Given the description of an element on the screen output the (x, y) to click on. 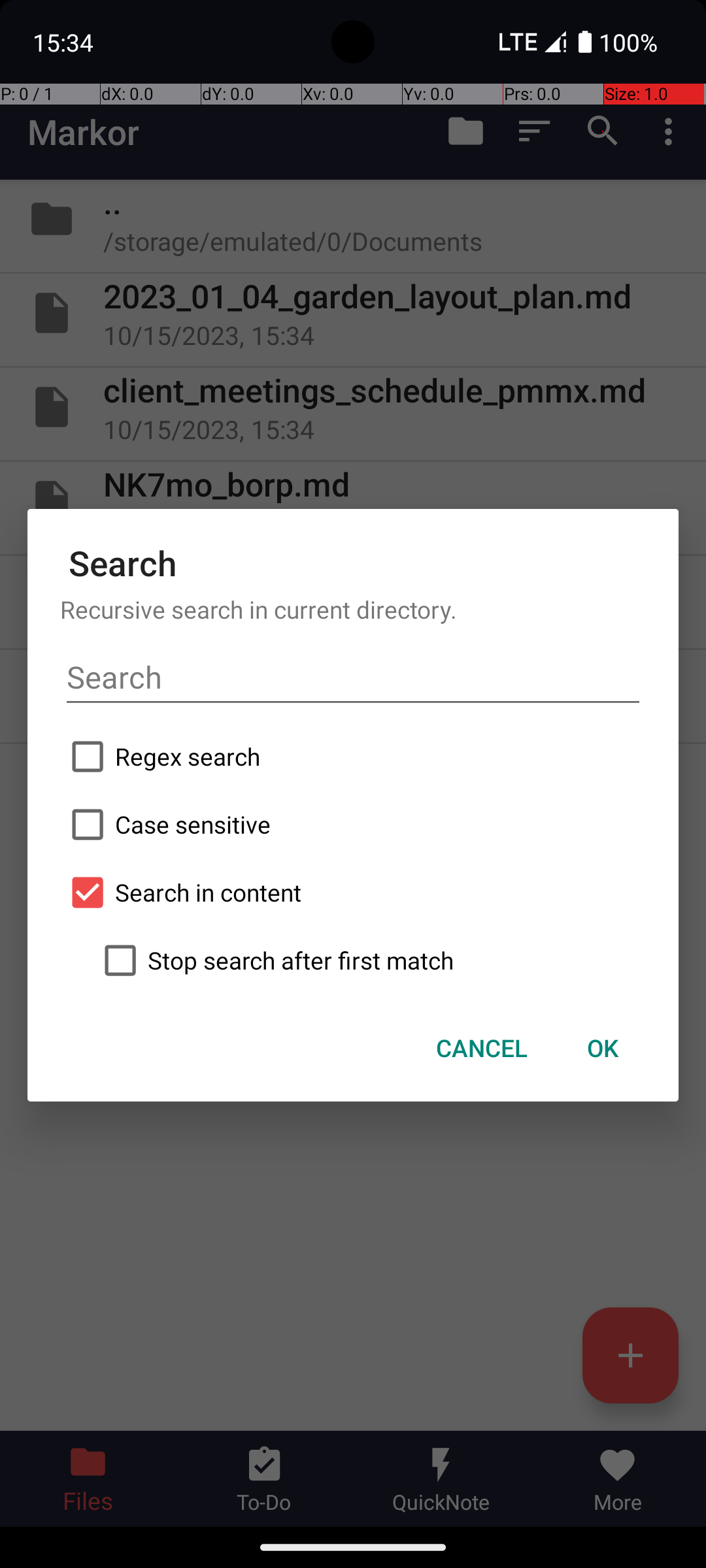
Stop search after first match Element type: android.widget.CheckBox (368, 959)
